Given the description of an element on the screen output the (x, y) to click on. 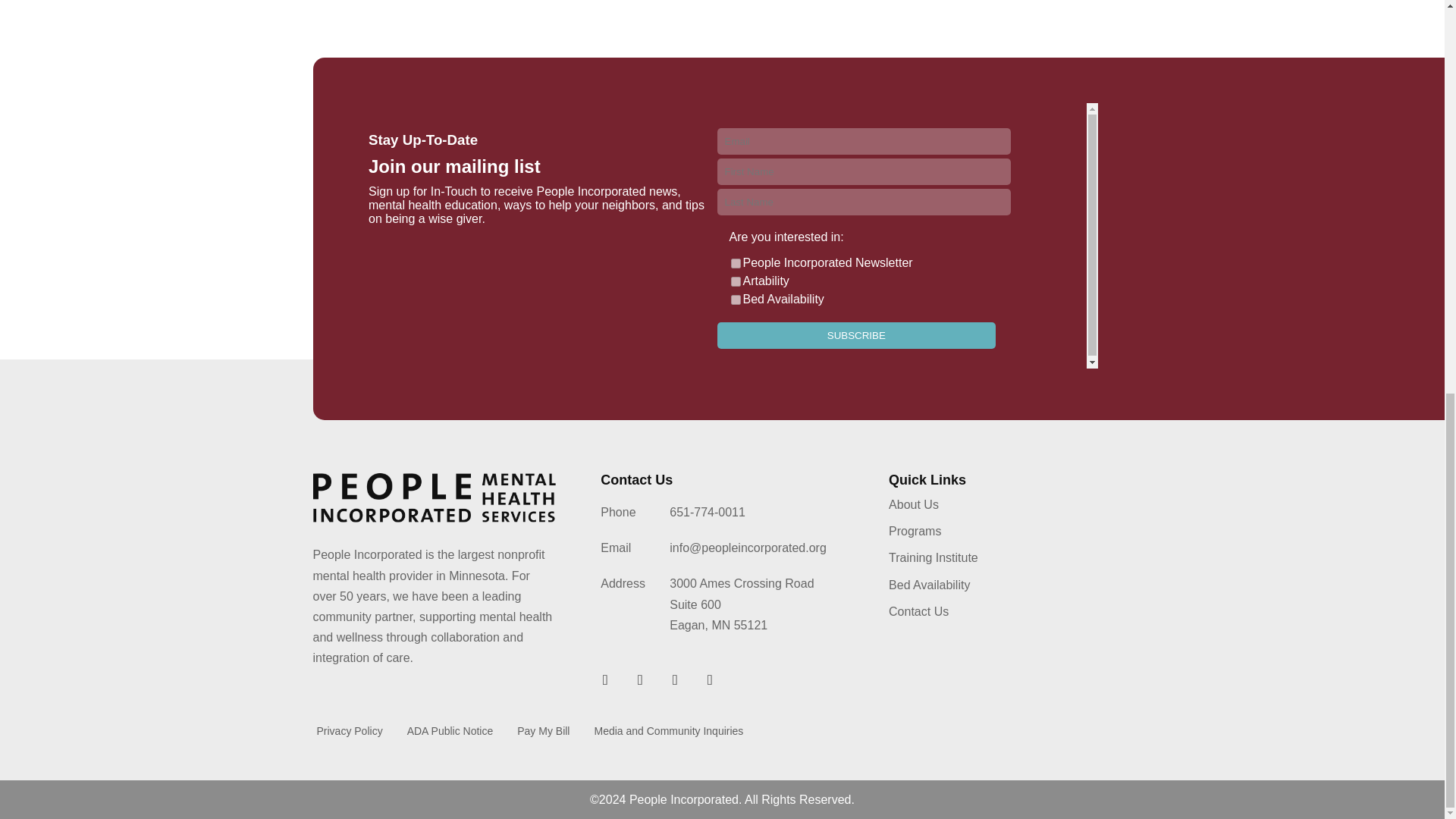
Follow on Youtube (674, 679)
Follow on Instagram (709, 679)
Follow on LinkedIn (639, 679)
Follow on Facebook (605, 679)
